Given the description of an element on the screen output the (x, y) to click on. 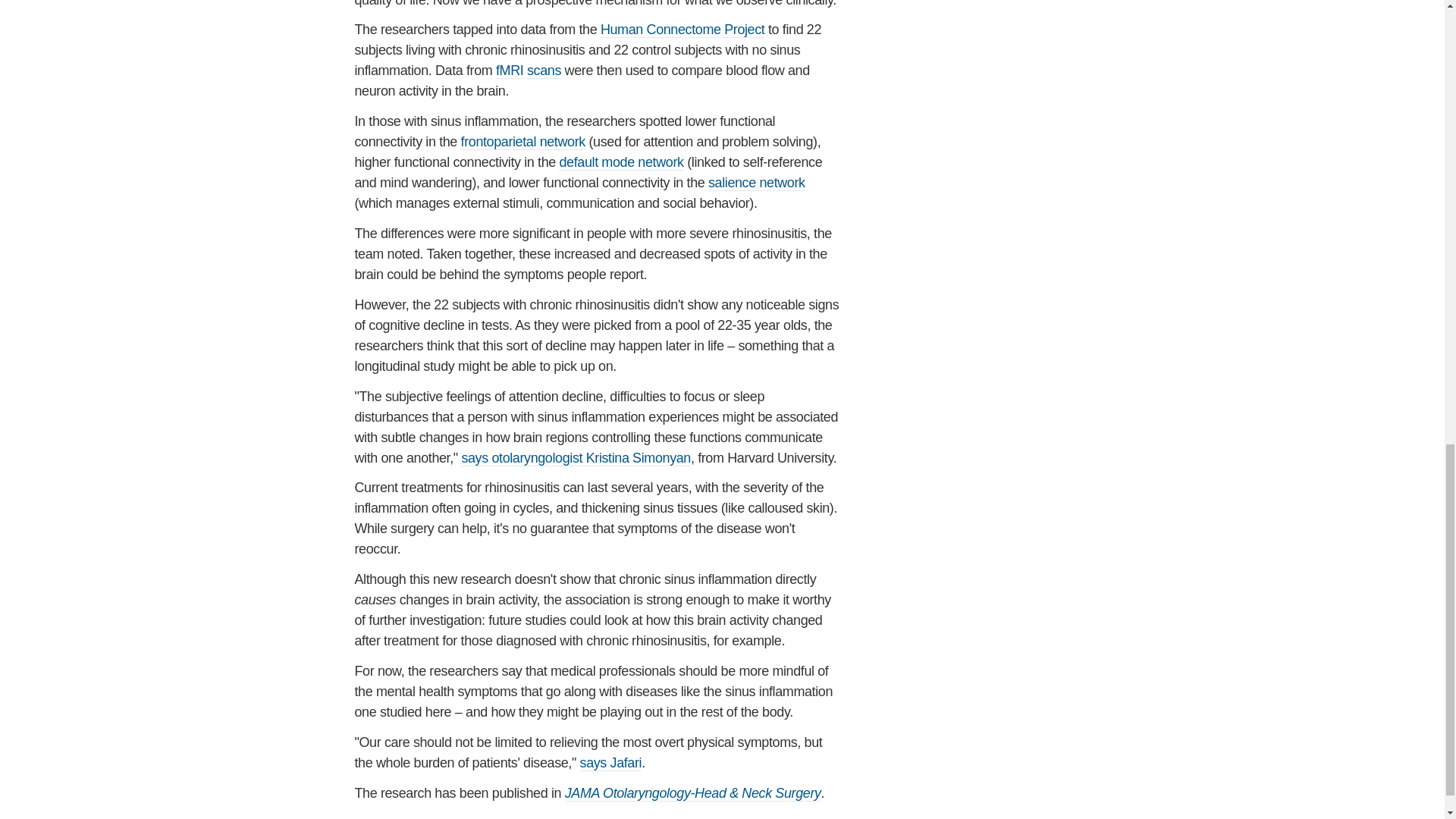
frontoparietal network (523, 141)
salience network (756, 182)
fMRI scans (528, 70)
default mode network (620, 162)
Human Connectome Project (682, 29)
